Given the description of an element on the screen output the (x, y) to click on. 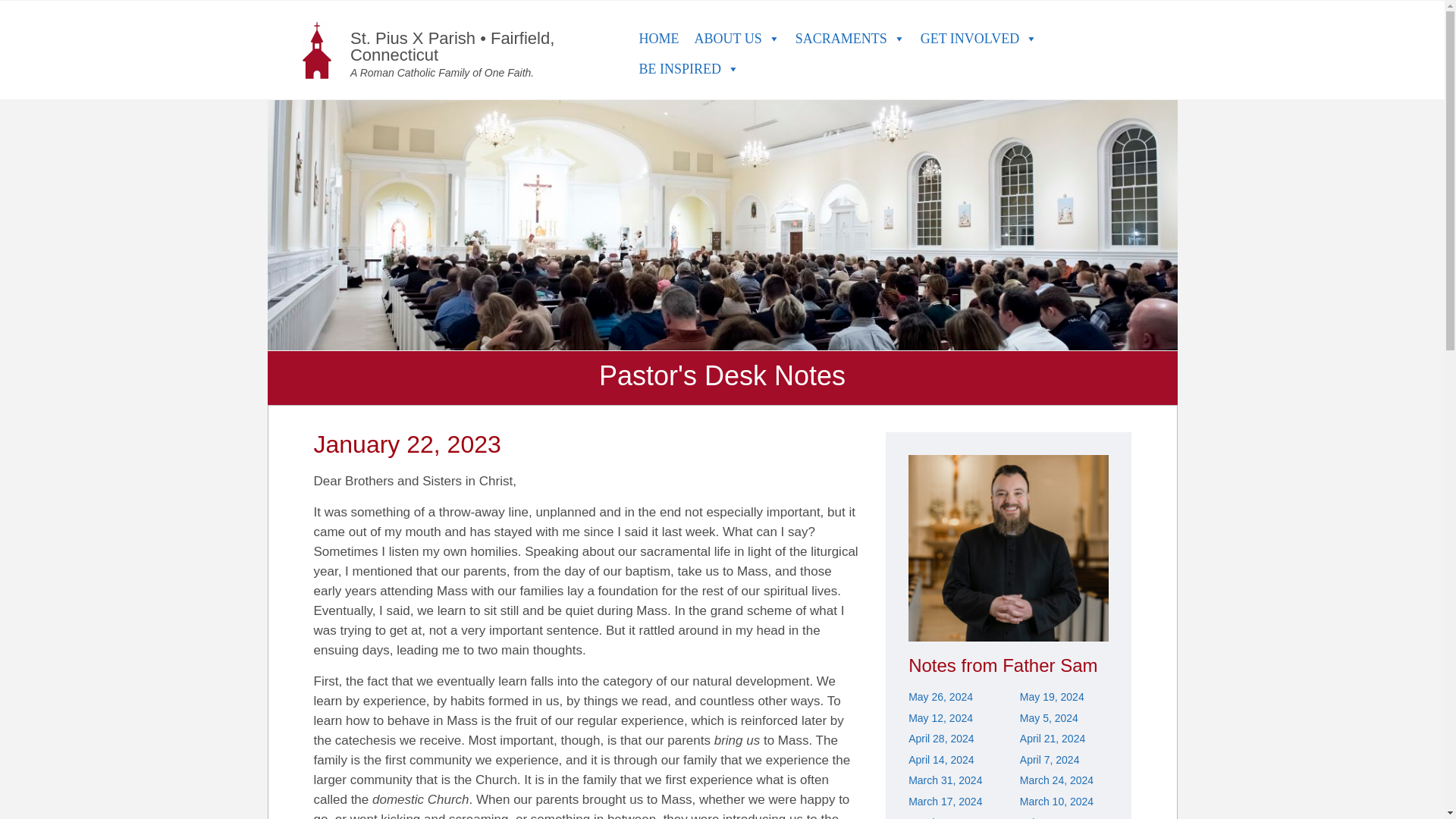
GET INVOLVED (978, 38)
ABOUT US (736, 38)
HOME (657, 38)
A Roman Catholic Family of One Faith. (442, 72)
SACRAMENTS (849, 38)
